Given the description of an element on the screen output the (x, y) to click on. 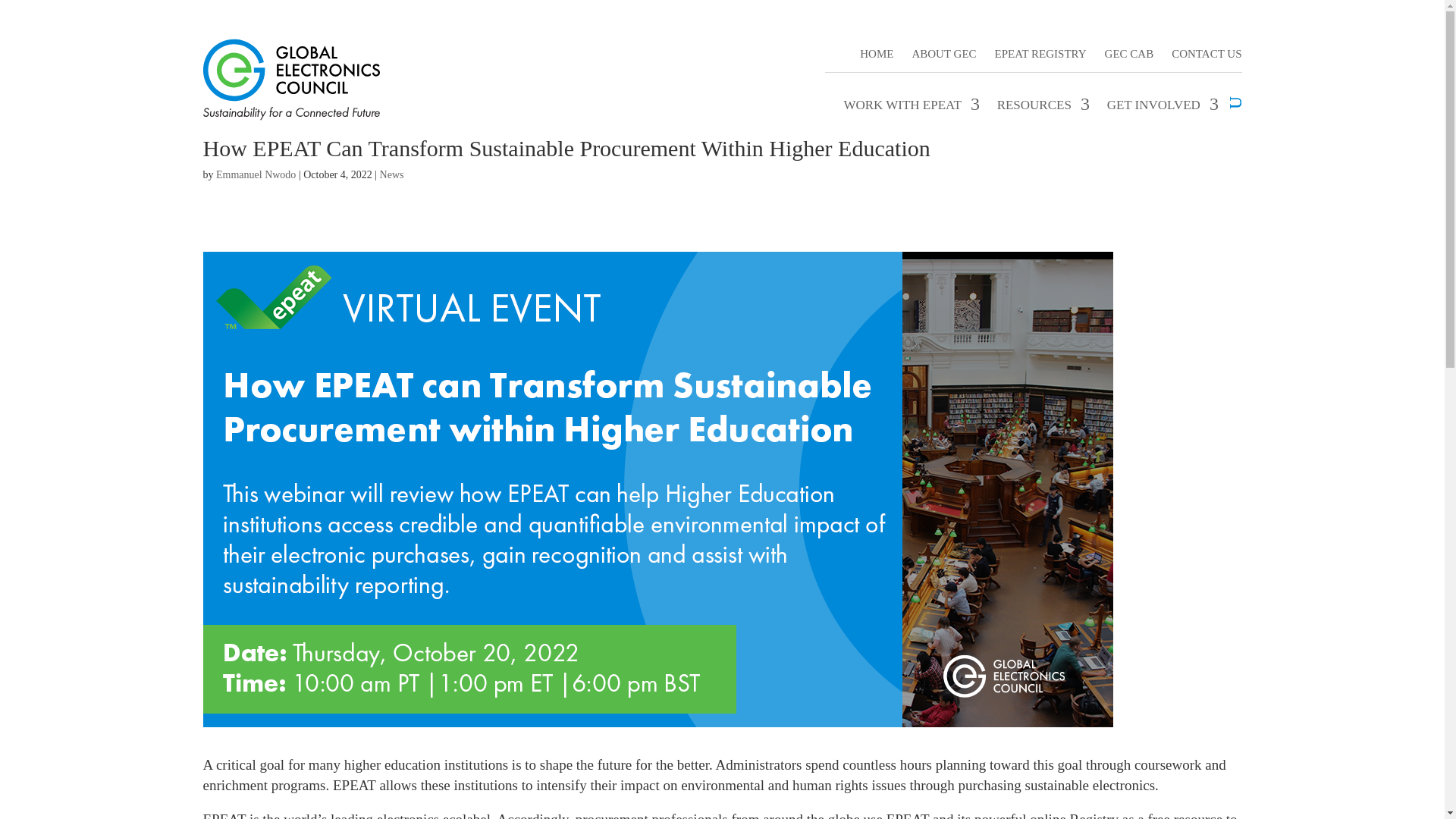
RESOURCES (1040, 104)
WORK WITH EPEAT (909, 104)
ABOUT GEC (943, 47)
CONTACT US (1206, 47)
News (392, 174)
GET INVOLVED (1160, 104)
Posts by Emmanuel Nwodo (255, 174)
EPEAT REGISTRY (1040, 47)
Emmanuel Nwodo (255, 174)
GEC CAB (1129, 47)
